Given the description of an element on the screen output the (x, y) to click on. 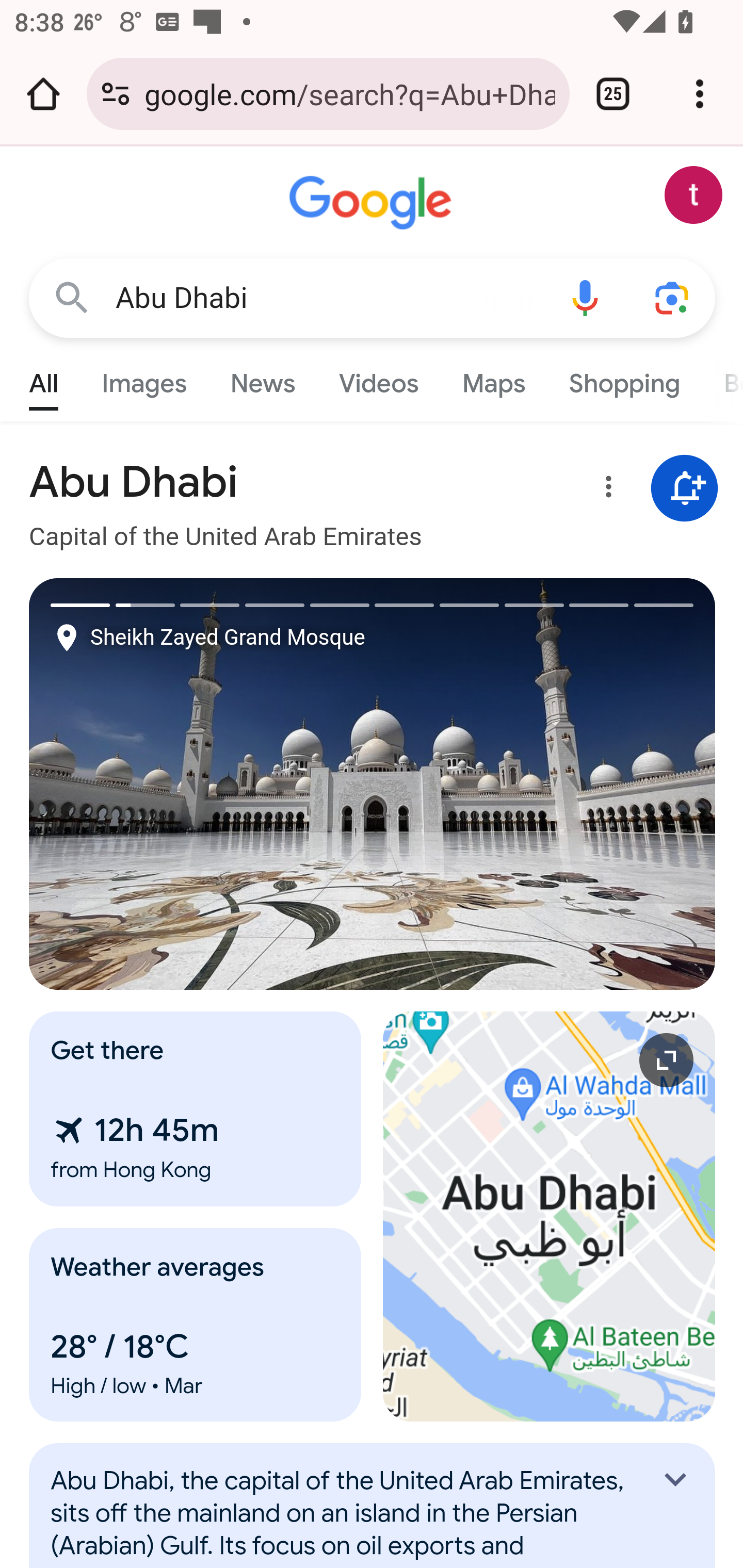
Open the home page (43, 93)
Connection is secure (115, 93)
Switch or close tabs (612, 93)
Customize and control Google Chrome (699, 93)
Google (372, 203)
Google Search (71, 296)
Search using your camera or photos (672, 296)
Abu Dhabi (328, 297)
Images (144, 378)
News (262, 378)
Videos (378, 378)
Maps (493, 378)
Shopping (623, 378)
Get notifications about Abu Dhabi (684, 489)
More options (605, 489)
Previous image (200, 783)
Next image (544, 783)
Expand map (549, 1216)
Weather averages 28° / 18°C High / low • Mar (195, 1324)
